Given the description of an element on the screen output the (x, y) to click on. 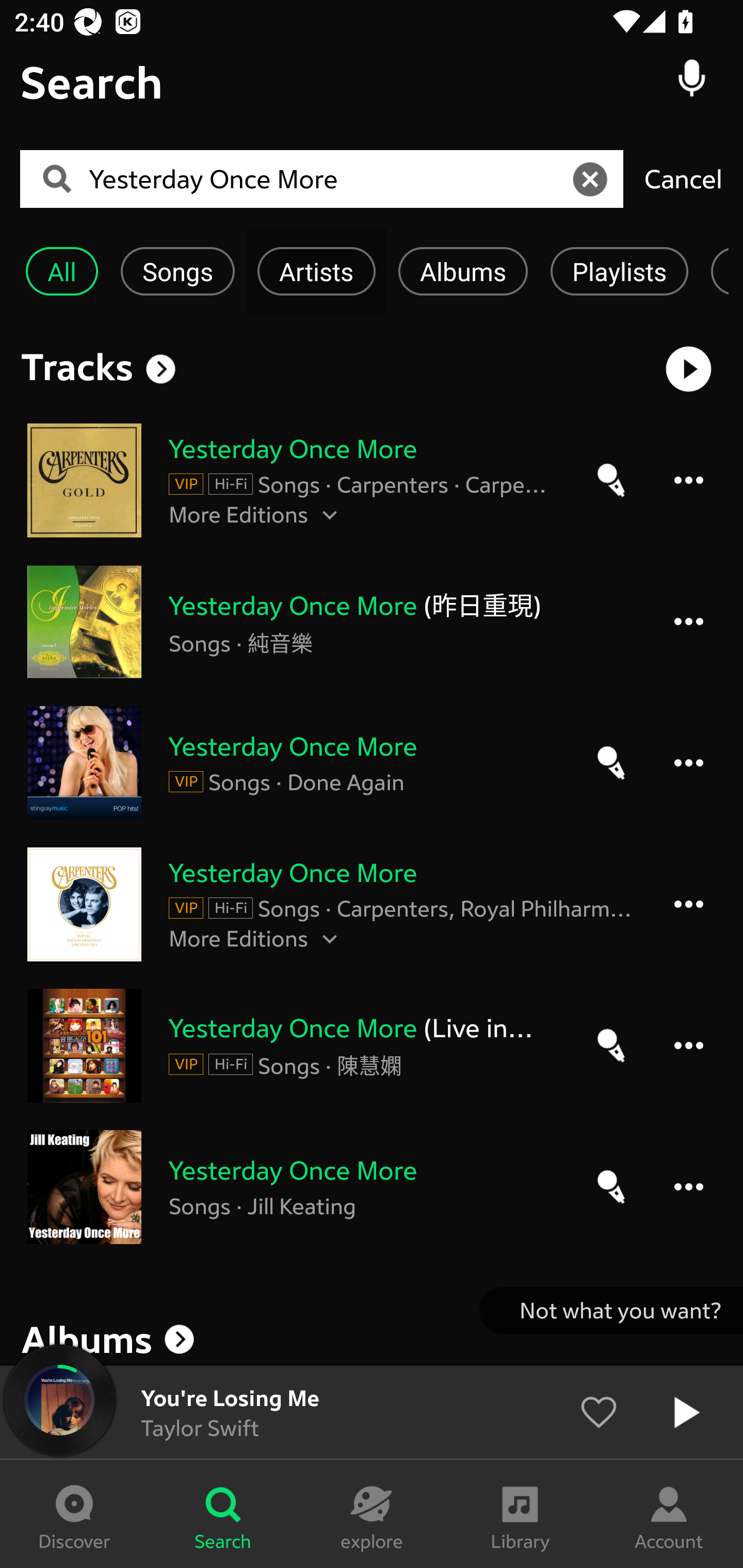
Cancel (683, 178)
Yesterday Once More (327, 179)
Songs (177, 271)
Artists (316, 271)
Albums (463, 271)
Playlists (619, 271)
Tracks (77, 365)
More Editions (363, 513)
Yesterday Once More (昨日重現) Songs · 純音樂 (371, 621)
Yesterday Once More VIP Songs · Done Again (371, 762)
More Editions (401, 938)
Yesterday Once More Songs · Jill Keating (371, 1186)
Albums (371, 1338)
You're Losing Me Taylor Swift (371, 1412)
Discover (74, 1513)
explore (371, 1513)
Library (519, 1513)
Account (668, 1513)
